Given the description of an element on the screen output the (x, y) to click on. 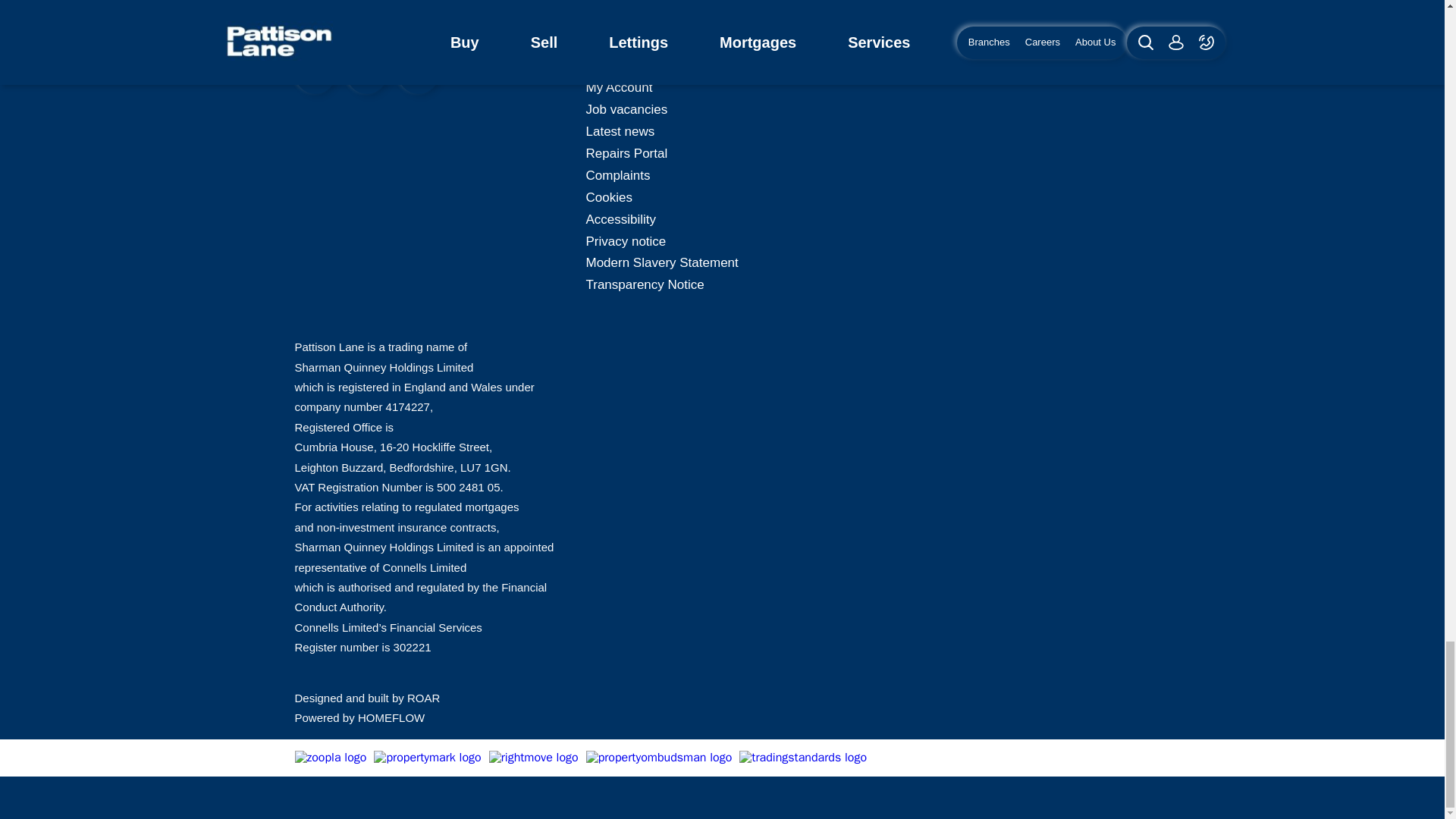
propertymark (427, 757)
zoopla (330, 757)
propertyombudsman (659, 757)
rightmove (533, 757)
tradingstandards (802, 757)
